Given the description of an element on the screen output the (x, y) to click on. 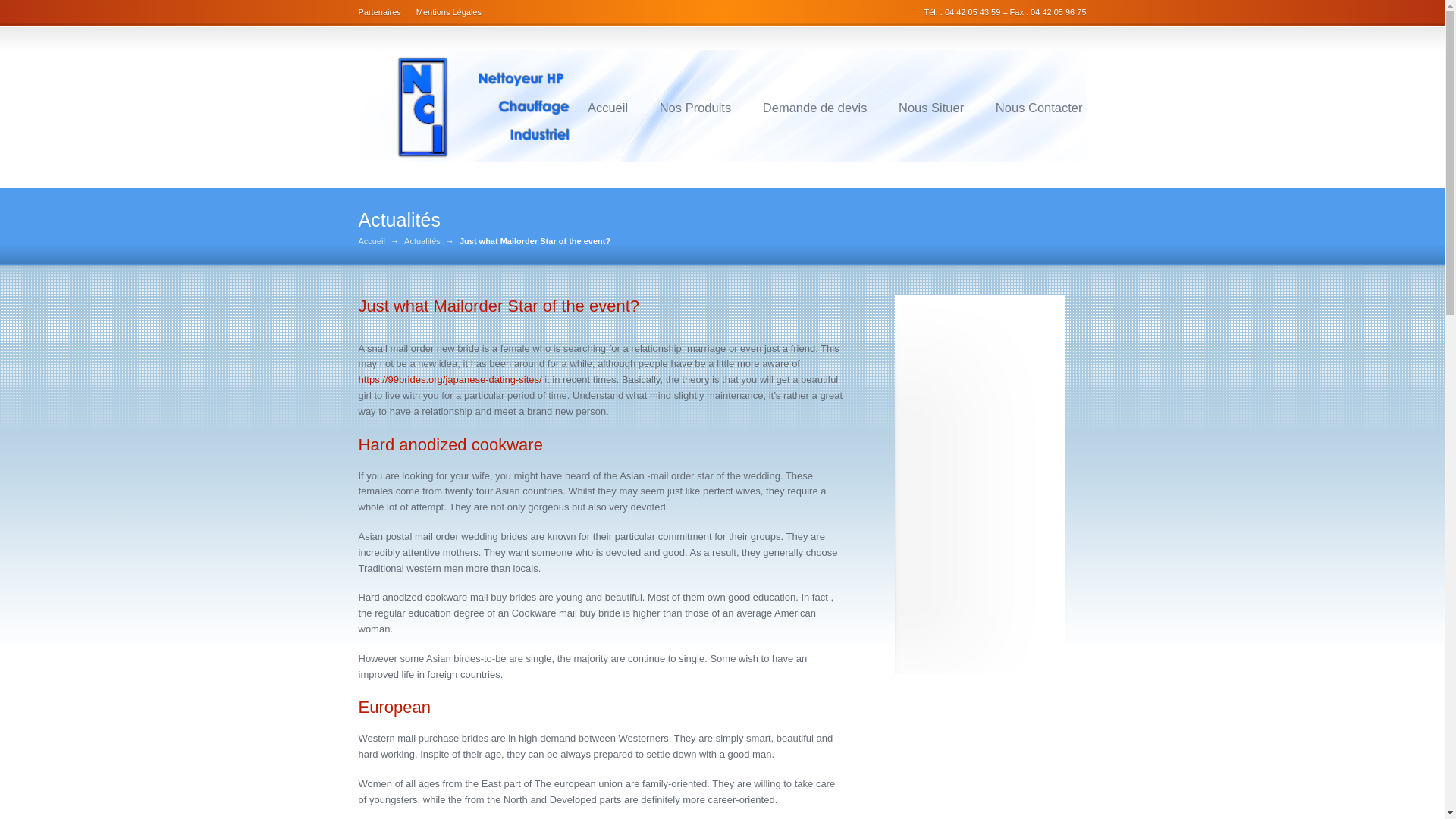
Nous Situer (931, 107)
Demande de devis (814, 107)
Nous Contacter (1038, 107)
Just what Mailorder Star of the event? (498, 305)
Accueil (371, 241)
Accueil (607, 107)
Nos Produits (695, 107)
Partenaires (382, 11)
